Given the description of an element on the screen output the (x, y) to click on. 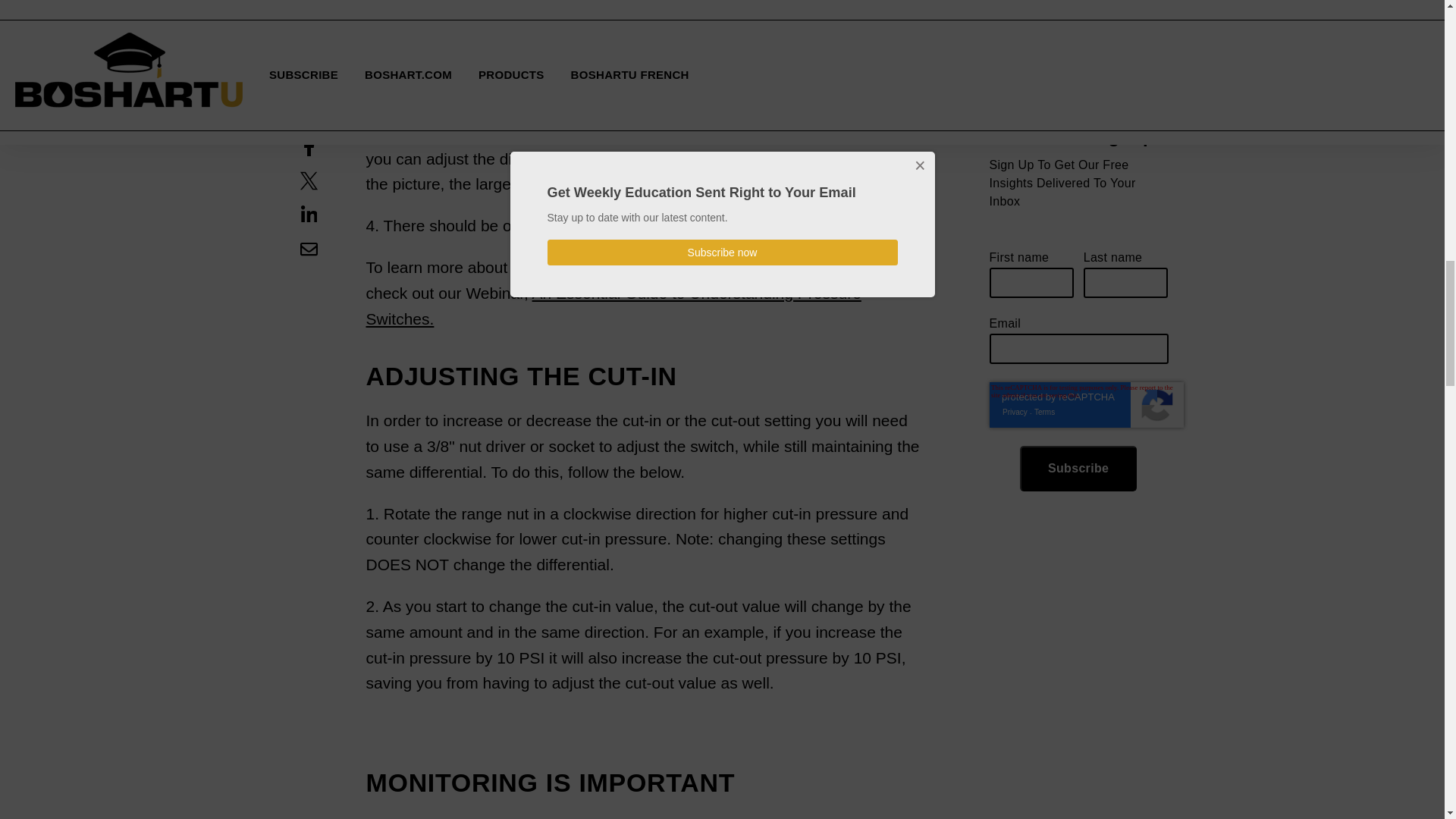
An Essential Guide to Understanding Pressure Switches. (612, 305)
